Given the description of an element on the screen output the (x, y) to click on. 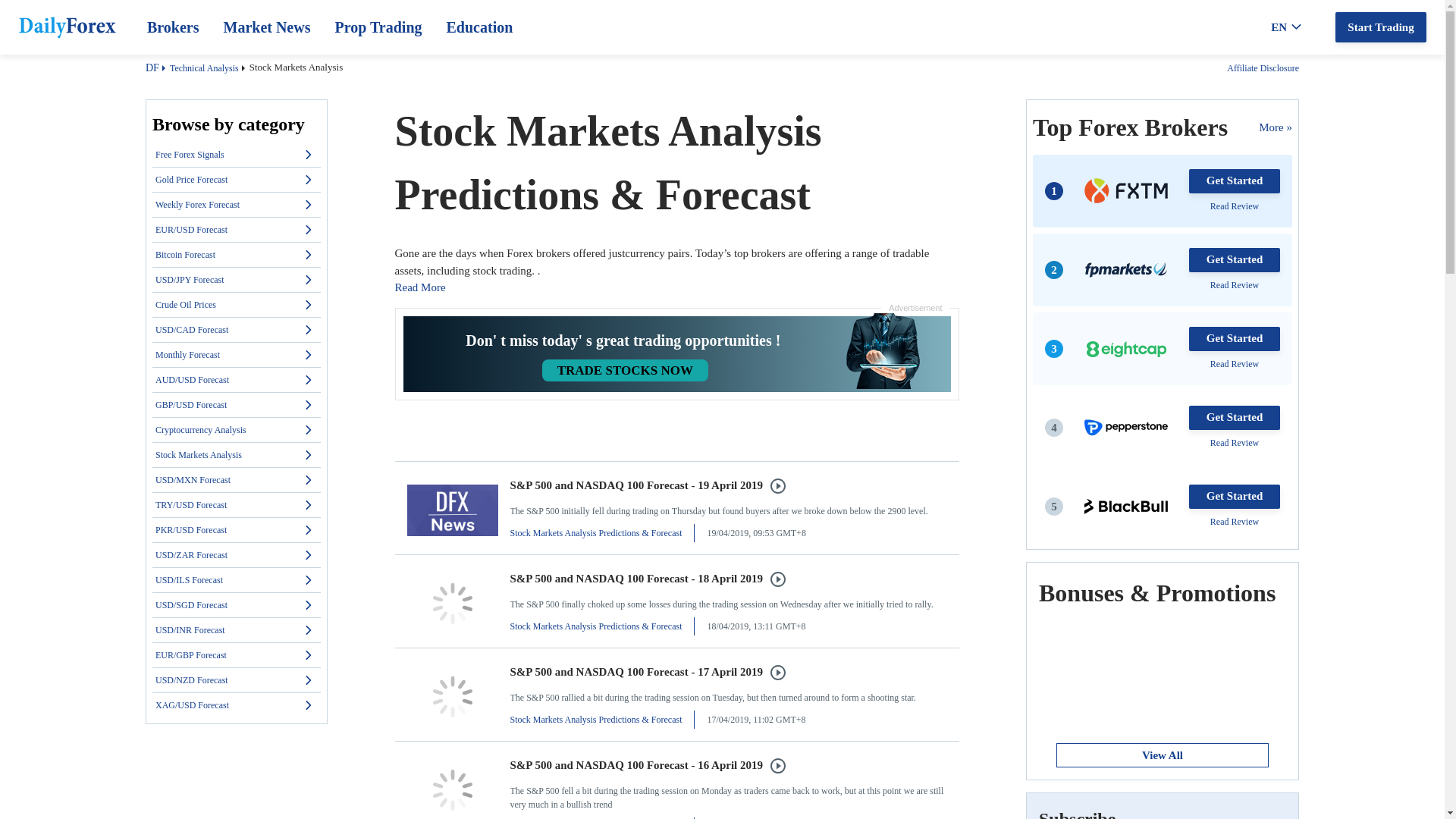
DailyForex (66, 27)
Brokers (173, 27)
DailyForex (66, 29)
